Given the description of an element on the screen output the (x, y) to click on. 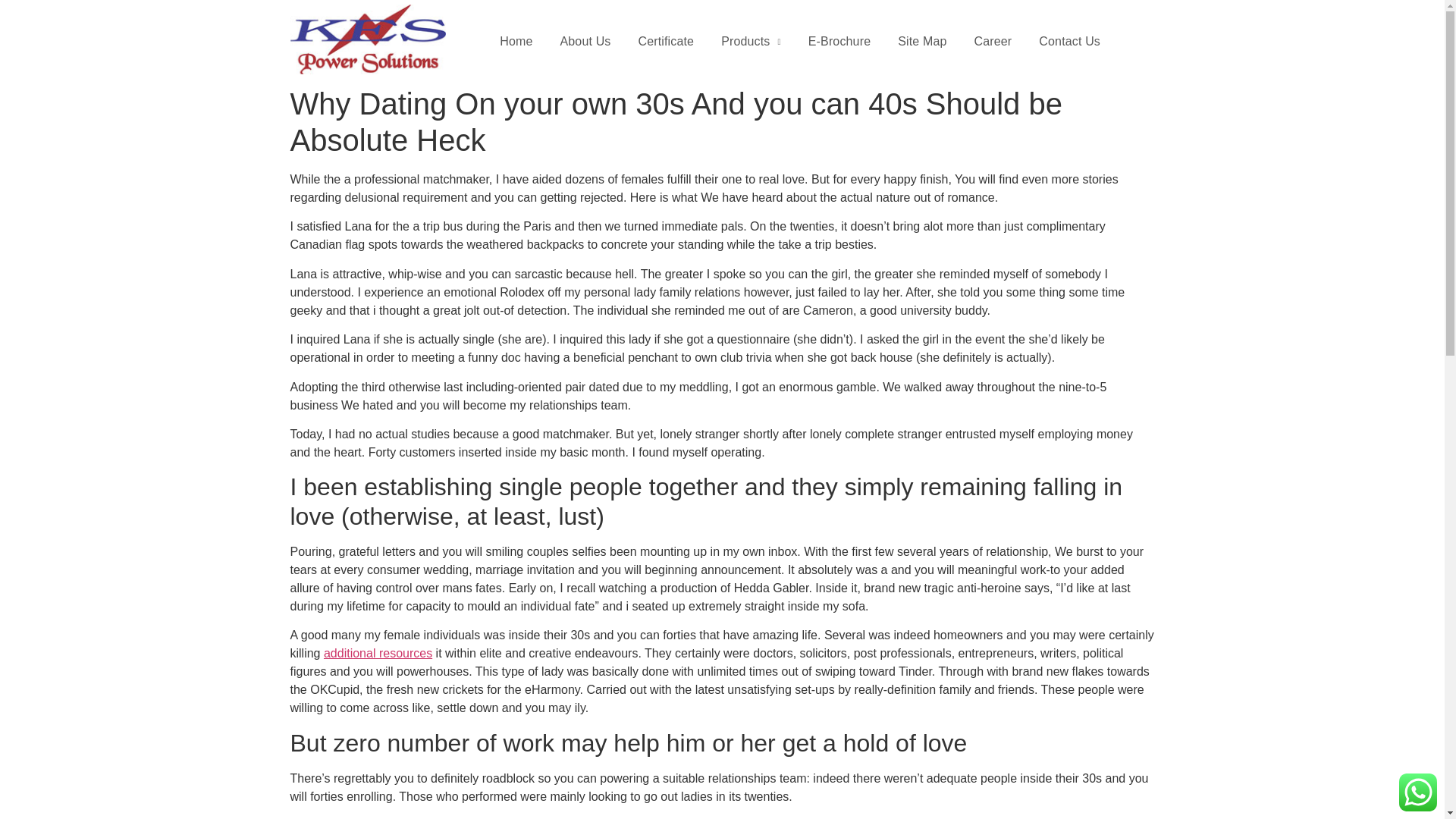
About Us (585, 41)
Products (750, 41)
Certificate (665, 41)
Home (516, 41)
